Given the description of an element on the screen output the (x, y) to click on. 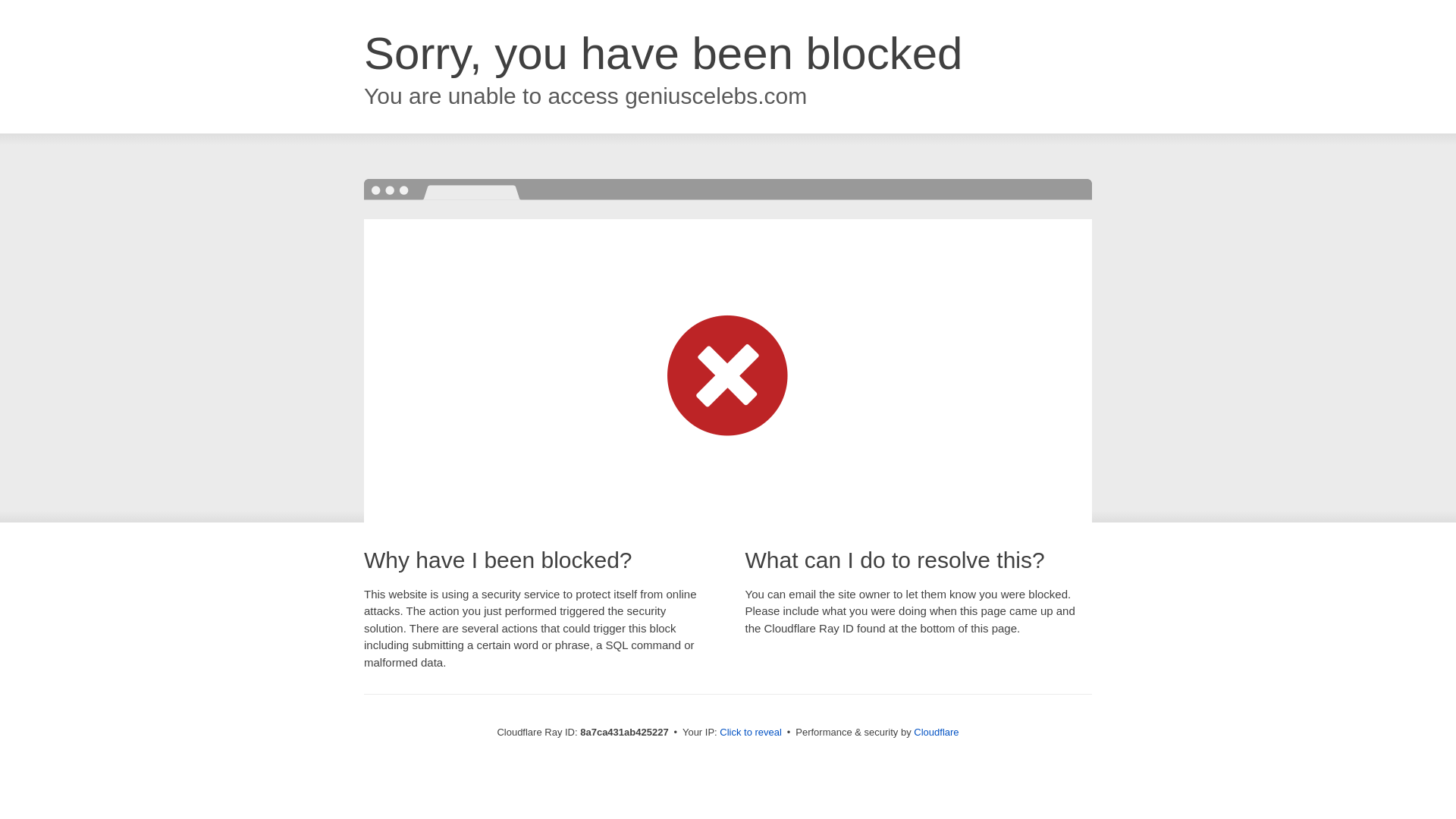
Click to reveal (750, 732)
Cloudflare (936, 731)
